Given the description of an element on the screen output the (x, y) to click on. 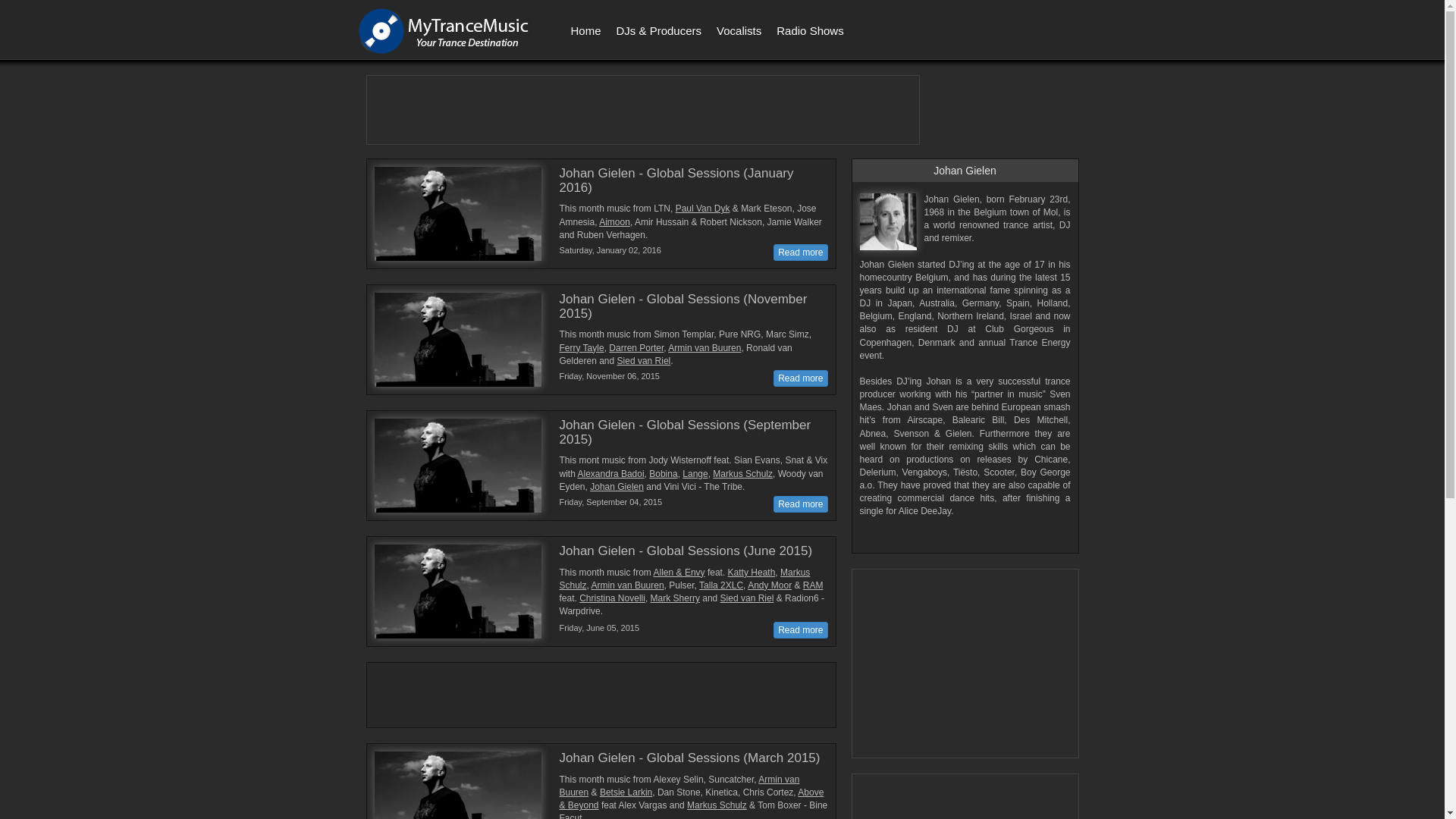
Advertisement (593, 692)
Advertisement (965, 664)
Advertisement (642, 110)
